Given the description of an element on the screen output the (x, y) to click on. 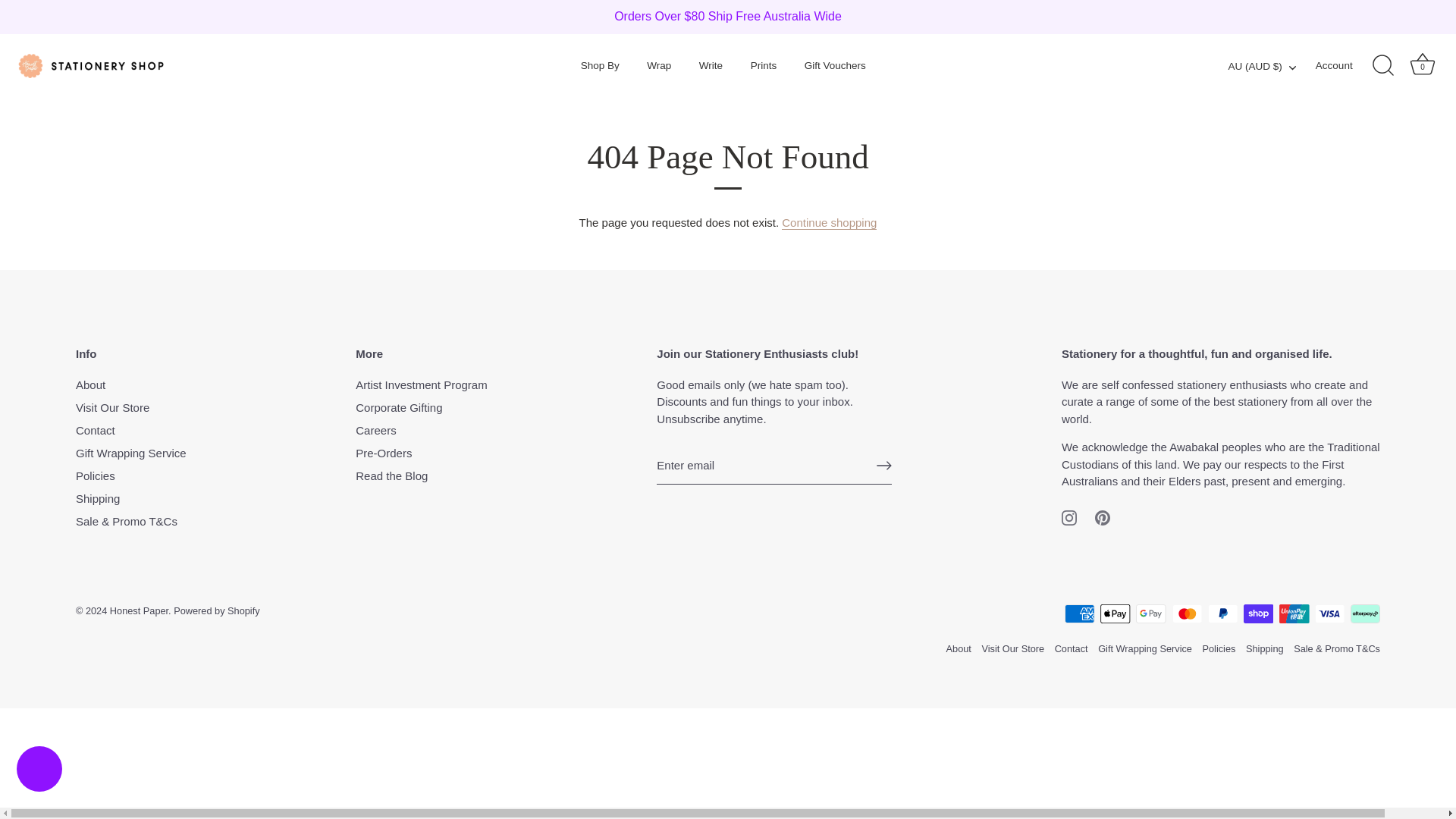
Union Pay (1293, 613)
Apple Pay (1114, 613)
American Express (1079, 613)
Visa (1329, 613)
Instagram (1069, 517)
Basket (1422, 63)
Pinterest (1101, 517)
Right arrow long (883, 465)
Wrap (658, 65)
PayPal (1222, 613)
